Given the description of an element on the screen output the (x, y) to click on. 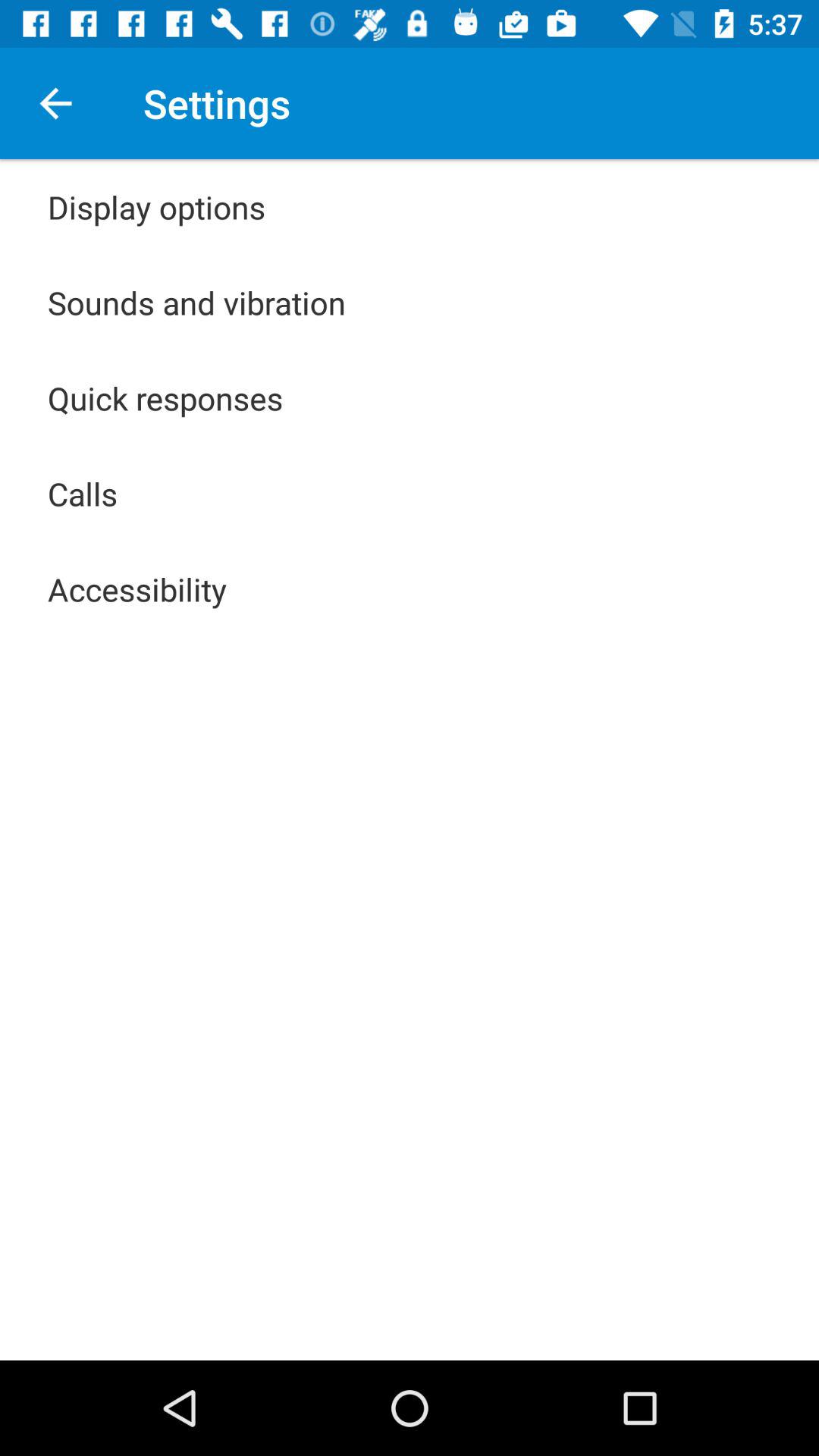
launch the app next to settings icon (55, 103)
